Given the description of an element on the screen output the (x, y) to click on. 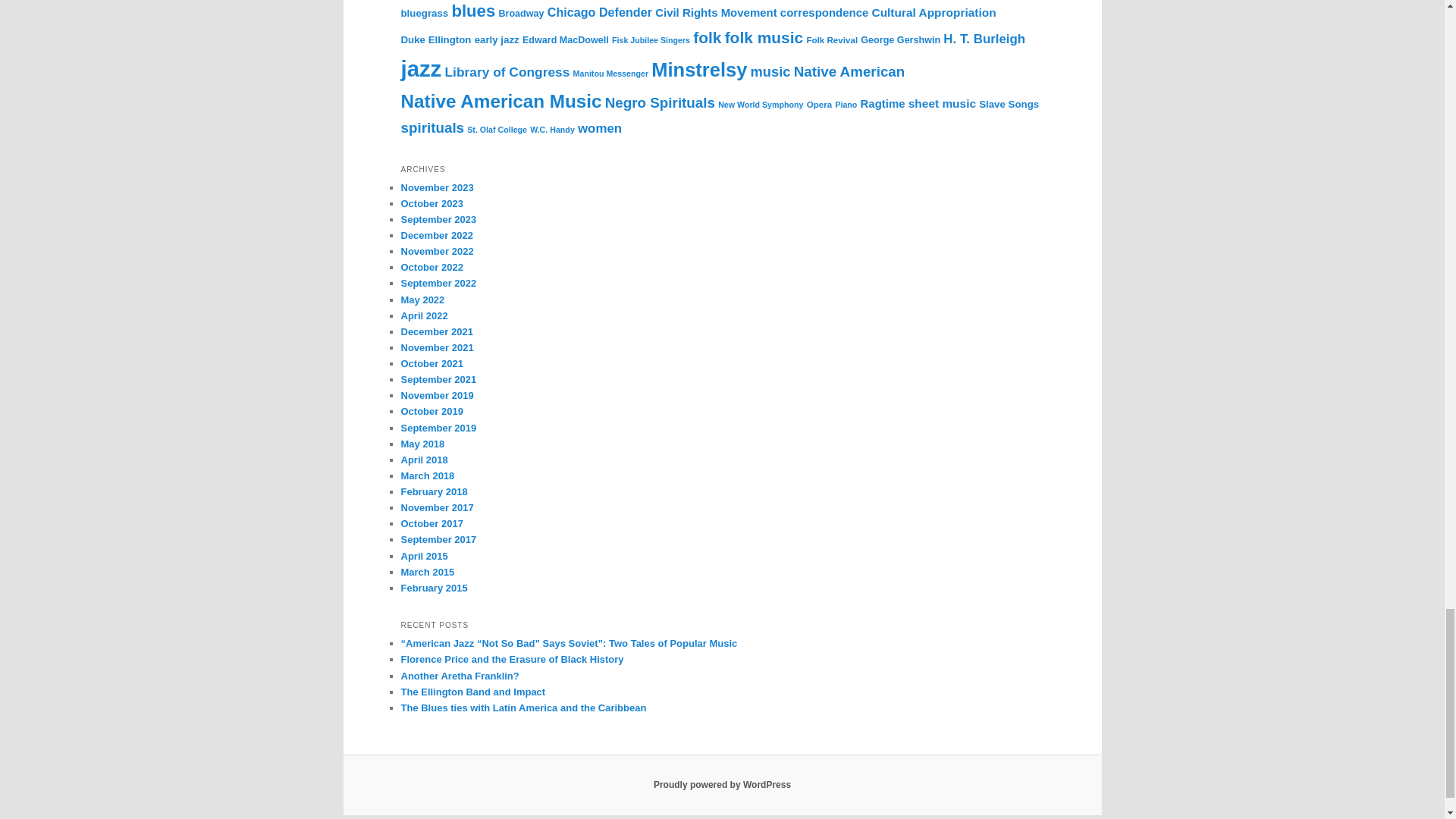
Semantic Personal Publishing Platform (721, 784)
